Given the description of an element on the screen output the (x, y) to click on. 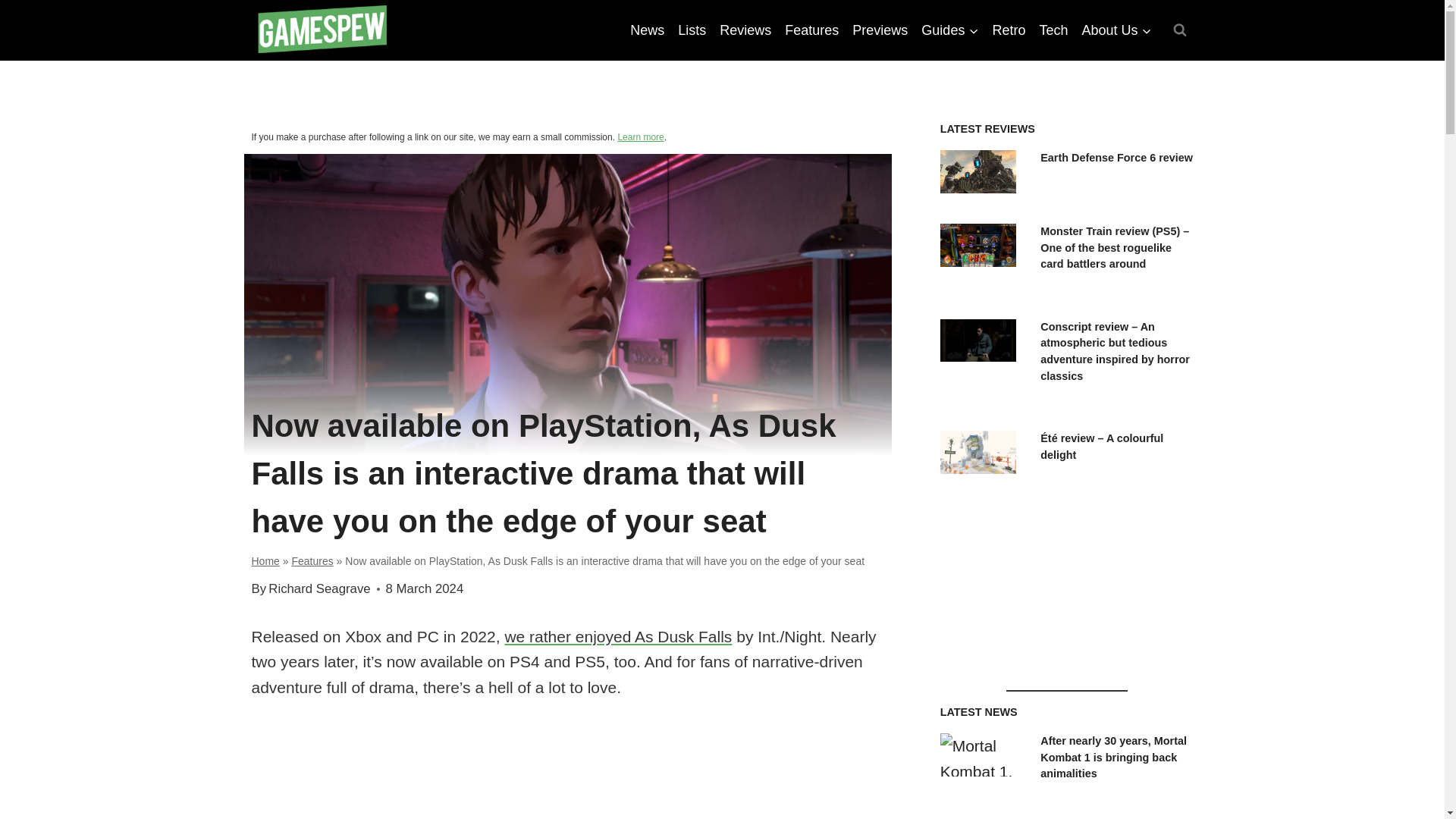
Features (811, 30)
Tech (1053, 30)
Richard Seagrave (318, 588)
Home (265, 561)
About Us (1115, 30)
Features (312, 561)
we rather enjoyed As Dusk Falls (617, 636)
Learn more (640, 136)
Retro (1008, 30)
Previews (879, 30)
News (647, 30)
Reviews (745, 30)
Lists (692, 30)
Guides (949, 30)
